Given the description of an element on the screen output the (x, y) to click on. 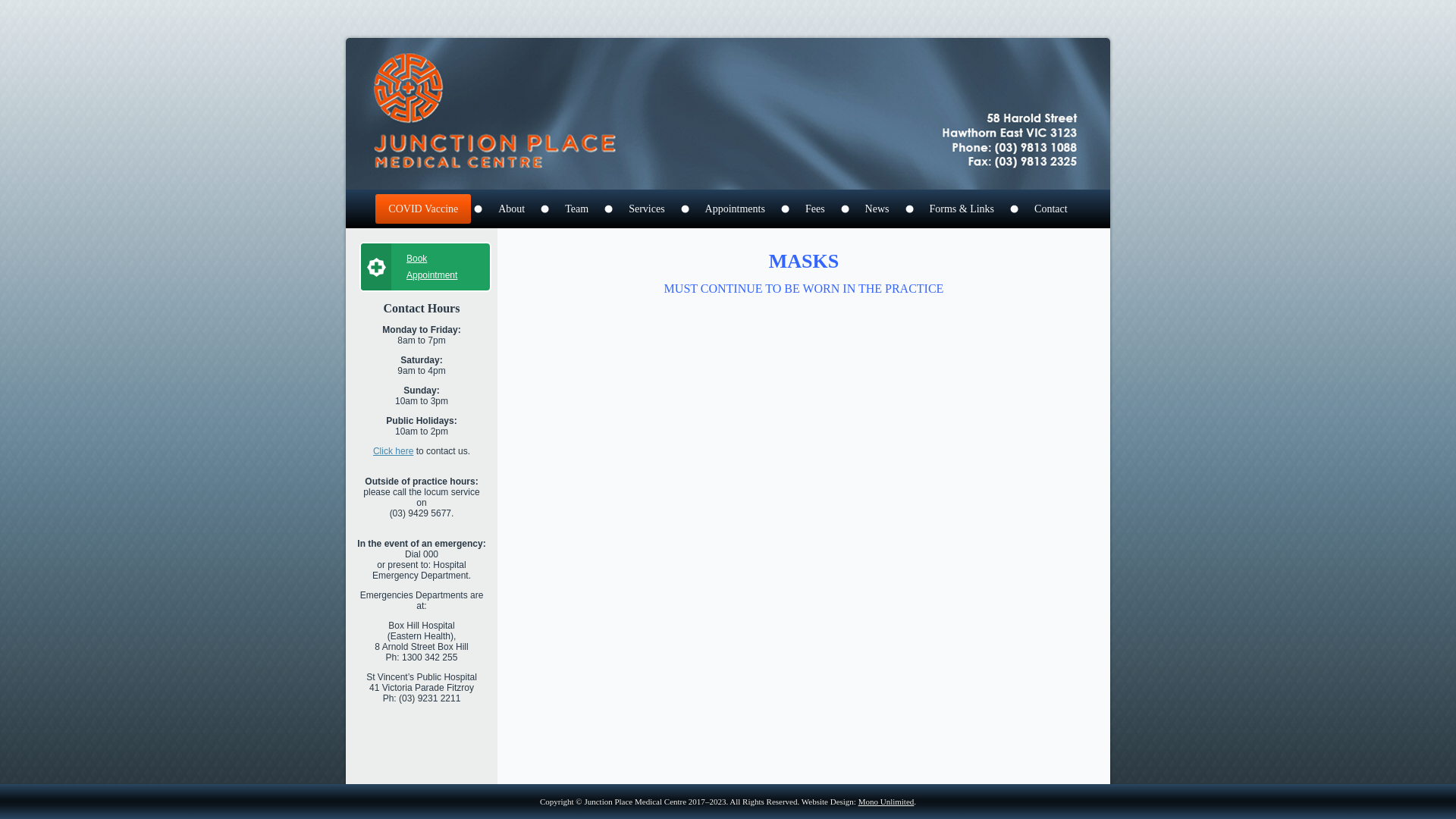
Mono Unlimited Element type: text (886, 801)
Book Appointment Element type: text (425, 266)
COVID Vaccine Element type: text (422, 208)
Fees Element type: text (814, 208)
Services Element type: text (646, 208)
About Element type: text (511, 208)
Forms & Links Element type: text (961, 208)
News Element type: text (877, 208)
Appointments Element type: text (735, 208)
Team Element type: text (576, 208)
Contact Element type: text (1050, 208)
Click here Element type: text (393, 450)
